Given the description of an element on the screen output the (x, y) to click on. 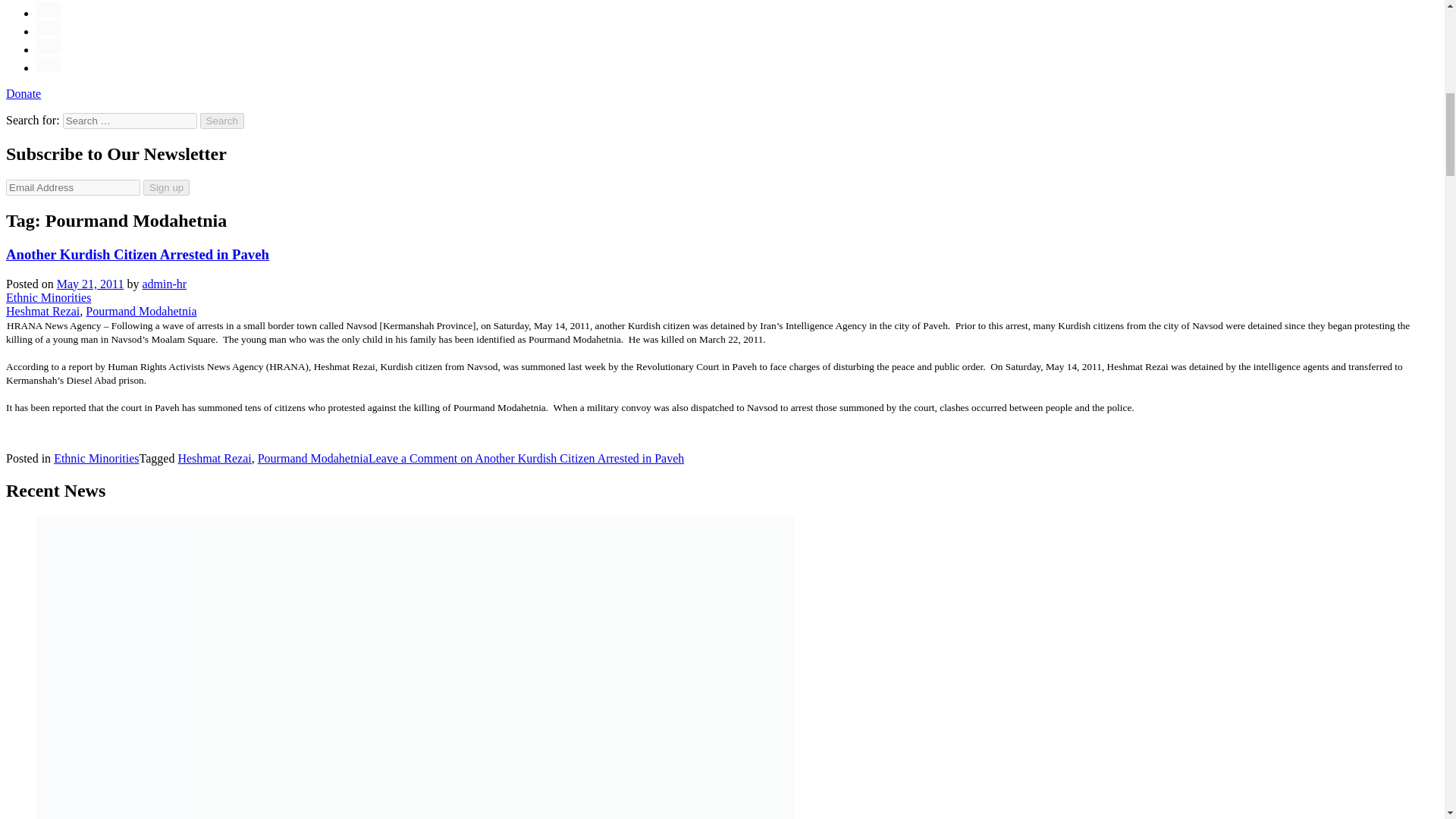
Search (222, 120)
Sign up (165, 187)
Leave a Comment on Another Kurdish Citizen Arrested in Paveh (526, 458)
Search (222, 120)
May 21, 2011 (89, 283)
Search (222, 120)
Heshmat Rezai (42, 310)
Ethnic Minorities (47, 297)
Ethnic Minorities (95, 458)
admin-hr (163, 283)
Pourmand Modahetnia (312, 458)
Sign up (165, 187)
Donate (22, 92)
Pourmand Modahetnia (140, 310)
Another Kurdish Citizen Arrested in Paveh (137, 254)
